Given the description of an element on the screen output the (x, y) to click on. 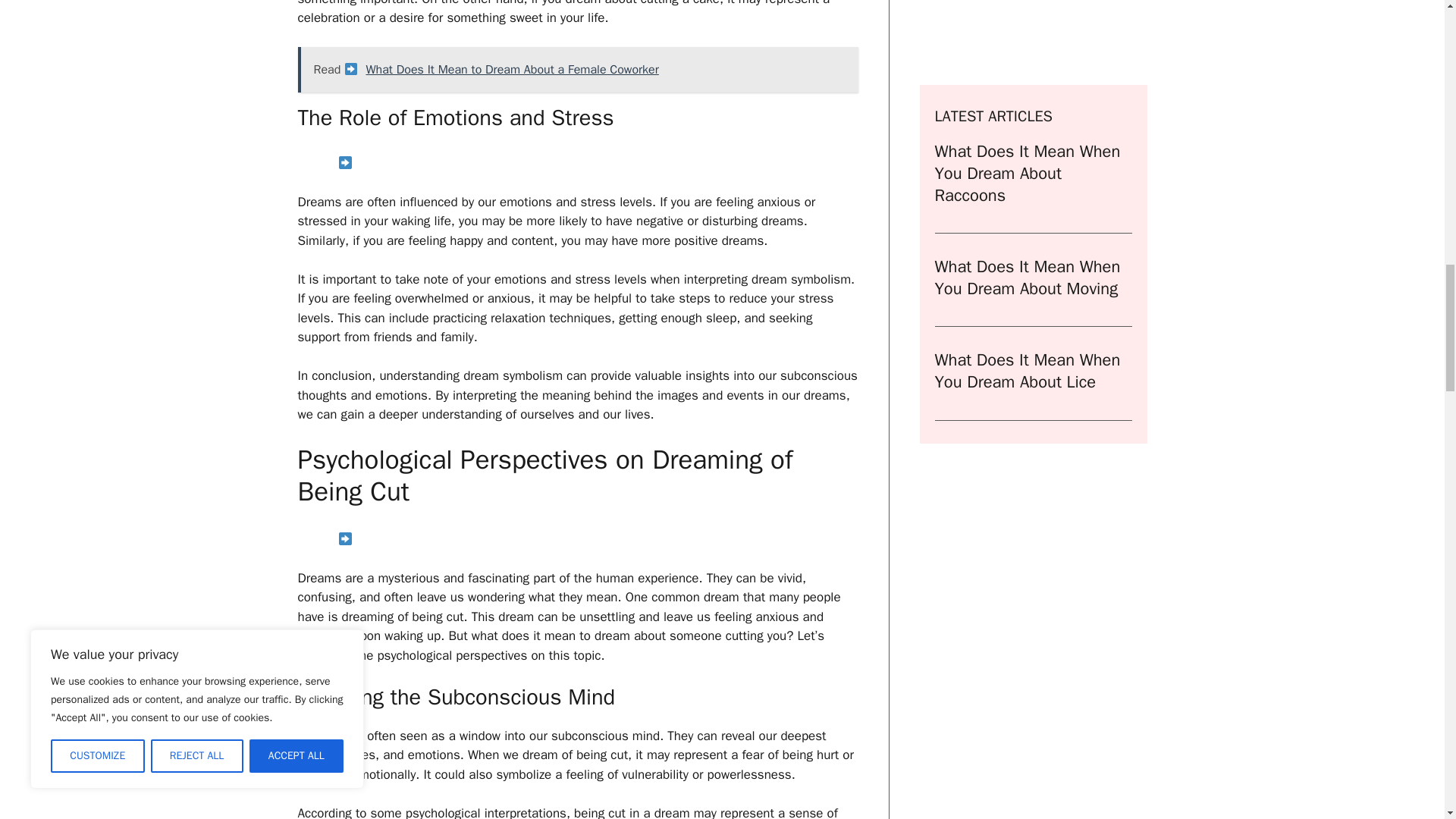
Read What Does a School Shooting Dream Mean (577, 539)
Read What Does a Kitchen Mean in a Dream Biblically (577, 163)
Read   What Does It Mean to Dream About a Female Coworker (577, 69)
